Given the description of an element on the screen output the (x, y) to click on. 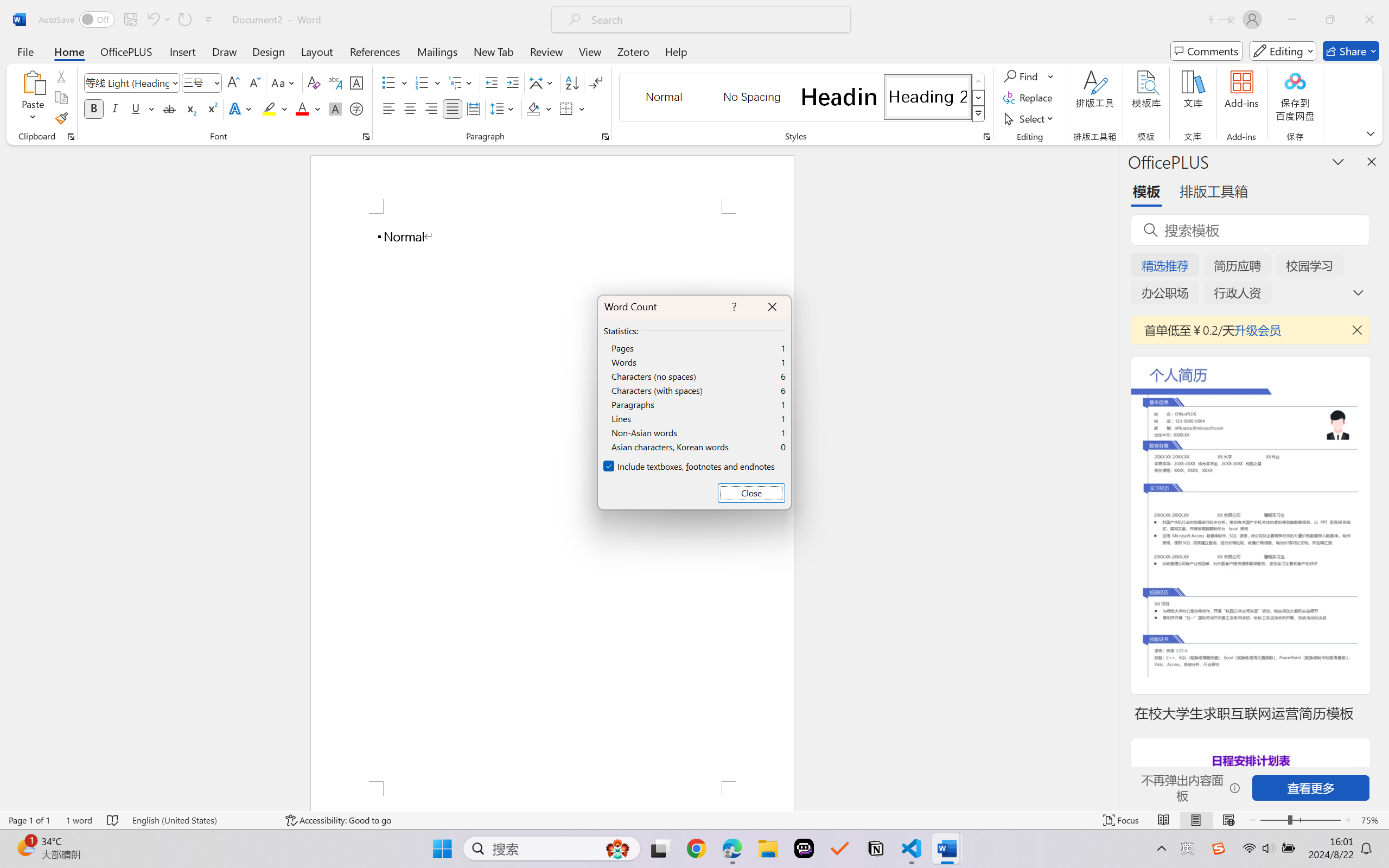
Replace... (1029, 97)
Draw (224, 51)
Find (1029, 75)
Heading 1 (839, 96)
Strikethrough (169, 108)
Show/Hide Editing Marks (595, 82)
Font Size (196, 82)
Text Highlight Color (274, 108)
Quick Access Toolbar (127, 19)
Text Effects and Typography (241, 108)
More Options (1051, 75)
Share (1350, 51)
Font Color Red (302, 108)
